Given the description of an element on the screen output the (x, y) to click on. 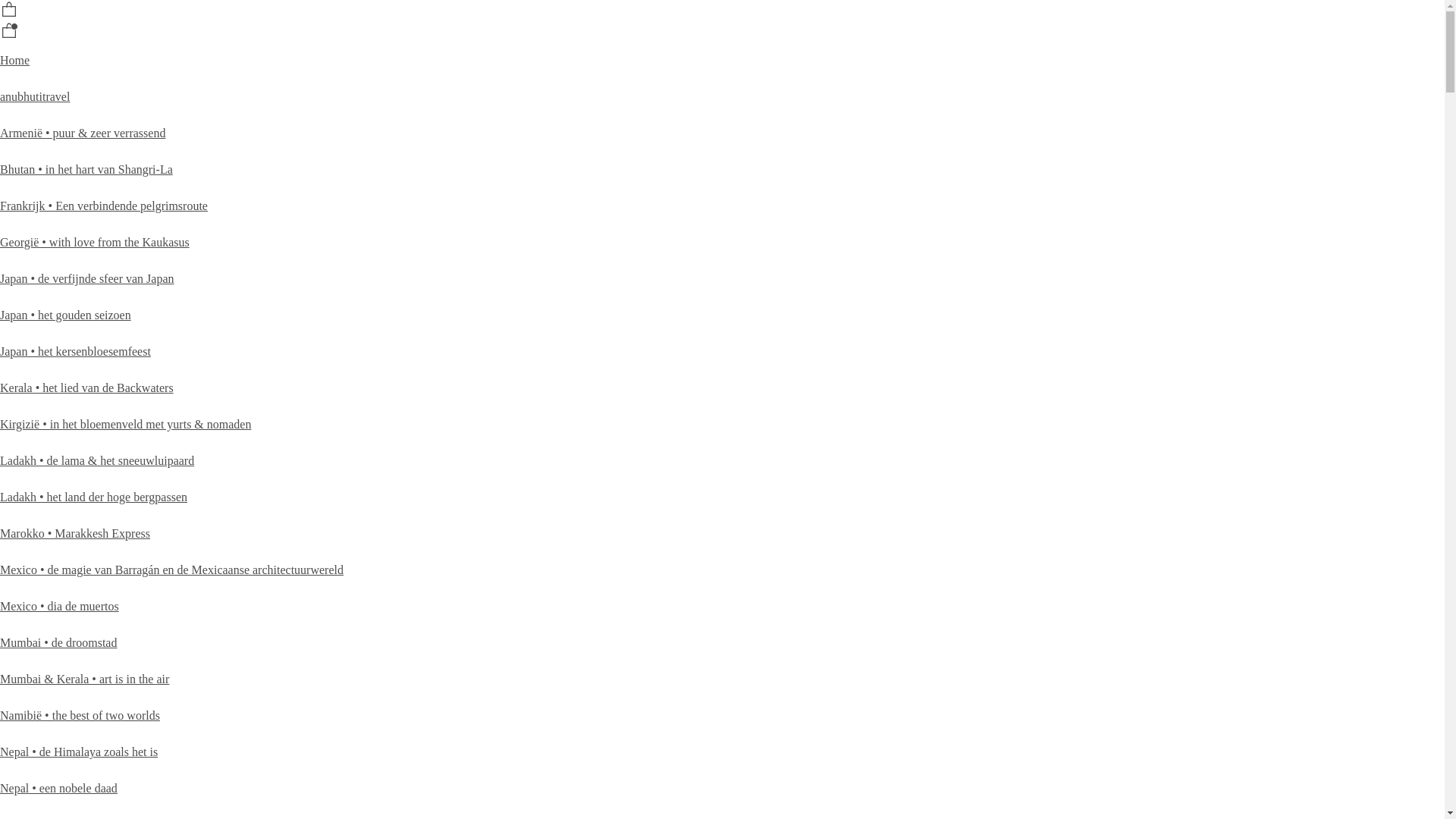
anubhutitravel Element type: text (34, 96)
Home Element type: text (14, 59)
